Given the description of an element on the screen output the (x, y) to click on. 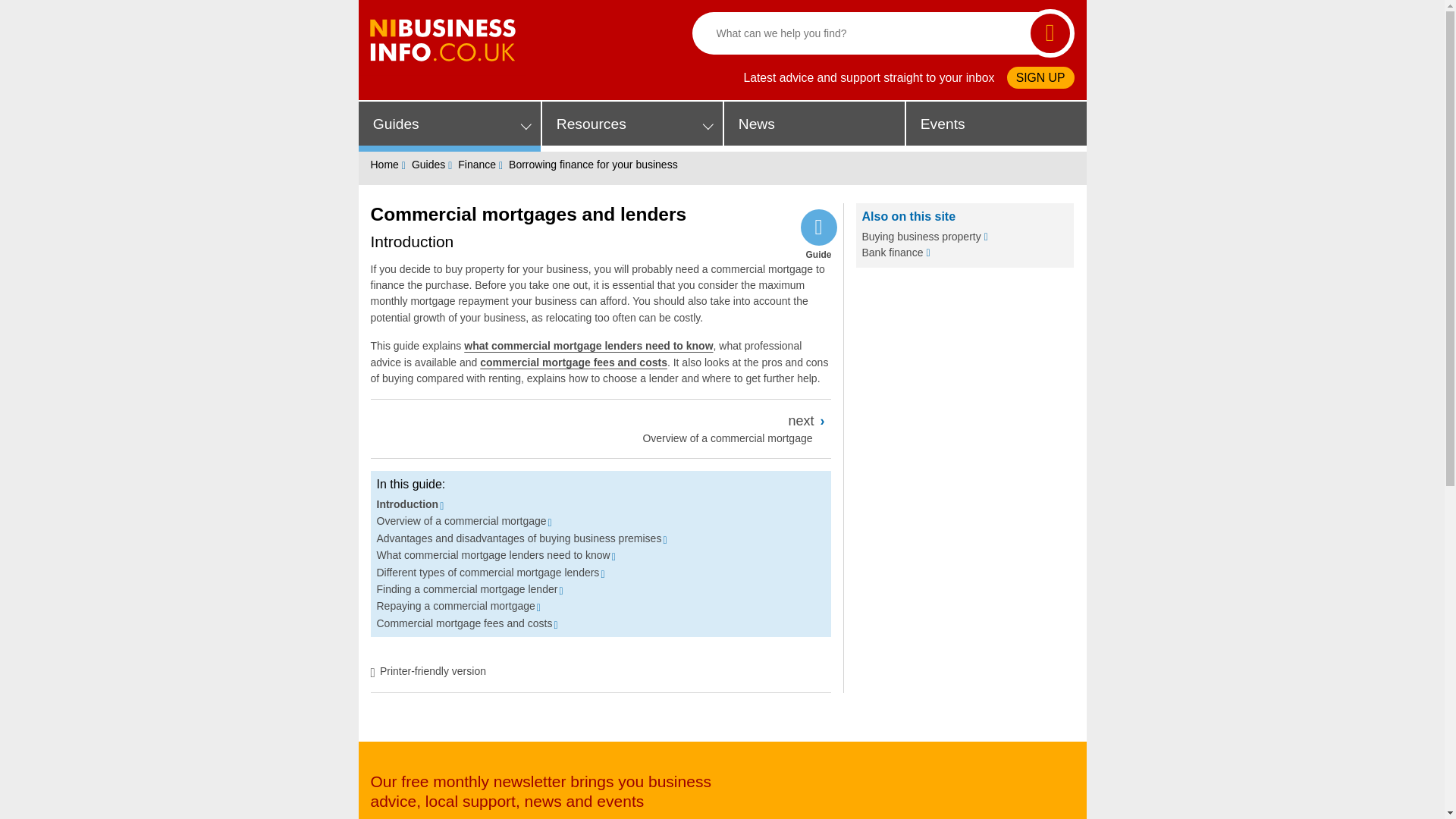
Resources (631, 126)
SIGN UP (1040, 77)
News (813, 126)
Search (1049, 33)
Events (995, 126)
Search (1049, 33)
Go to next page (723, 428)
Guides (449, 126)
